Given the description of an element on the screen output the (x, y) to click on. 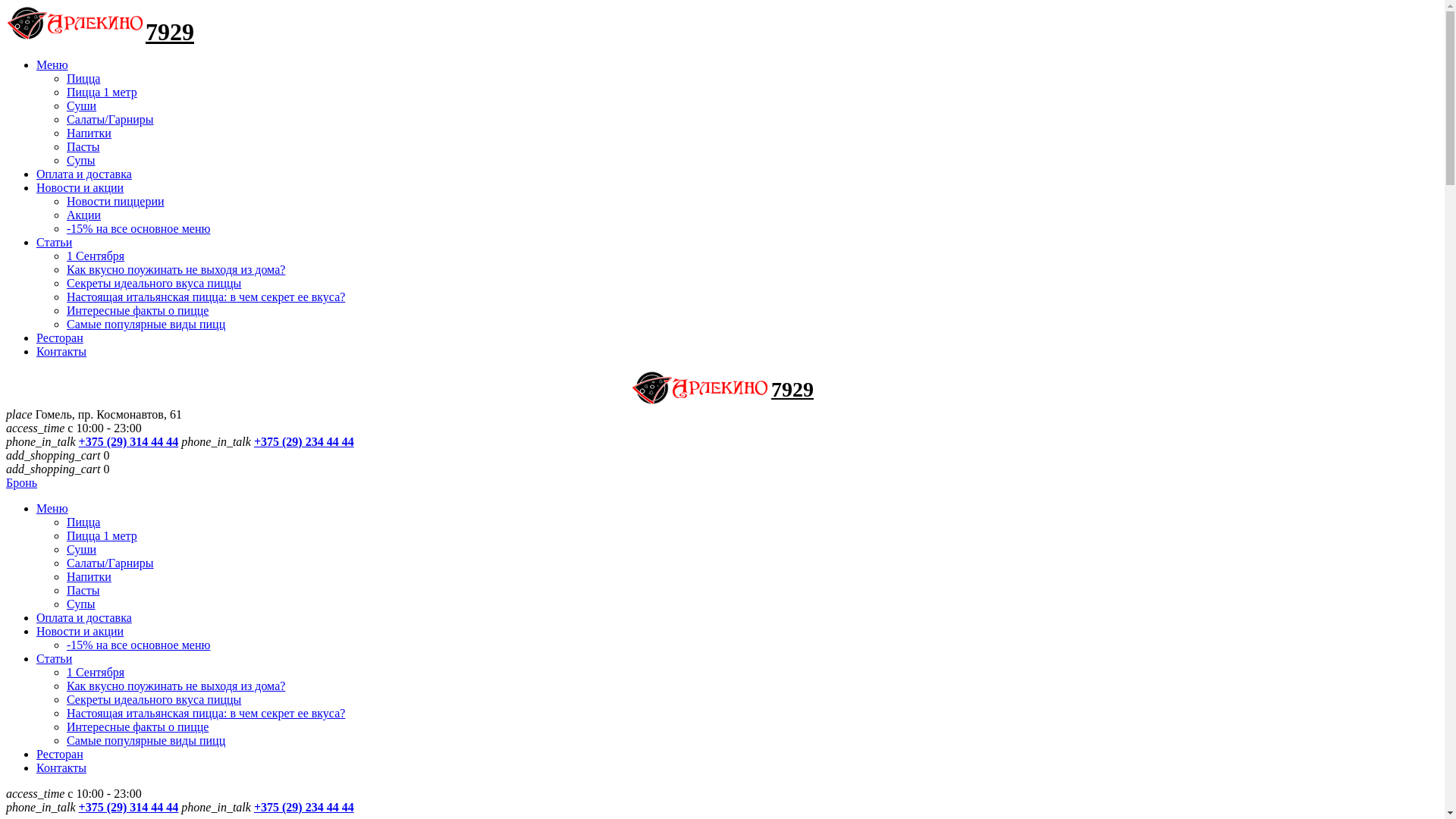
+375 (29) 314 44 44 Element type: text (128, 441)
+375 (29) 234 44 44 Element type: text (304, 806)
7929 Element type: text (169, 31)
+375 (29) 314 44 44 Element type: text (128, 806)
7929 Element type: text (792, 389)
+375 (29) 234 44 44 Element type: text (304, 441)
